Given the description of an element on the screen output the (x, y) to click on. 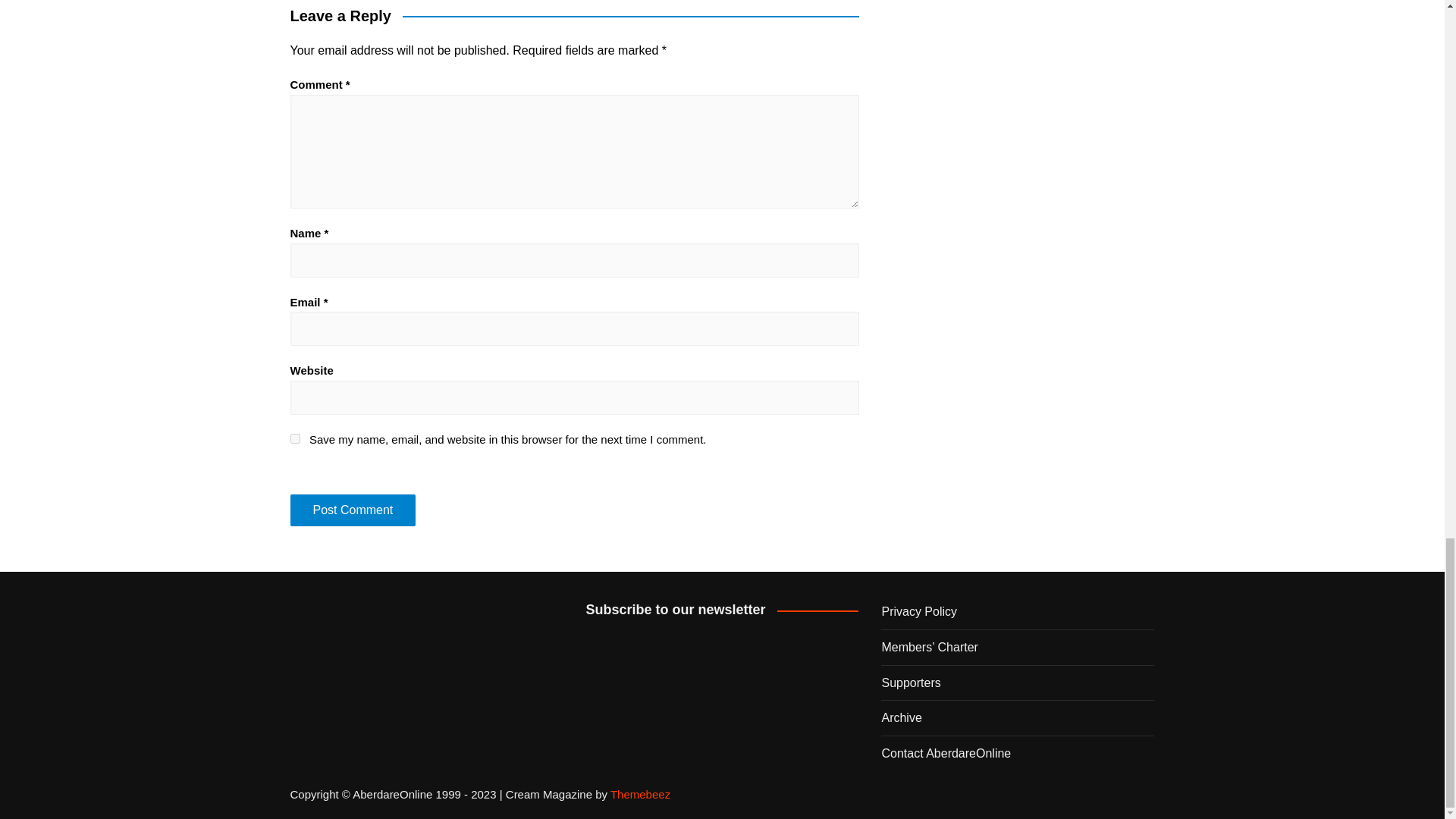
Post Comment (351, 510)
yes (294, 438)
Post Comment (351, 510)
